Given the description of an element on the screen output the (x, y) to click on. 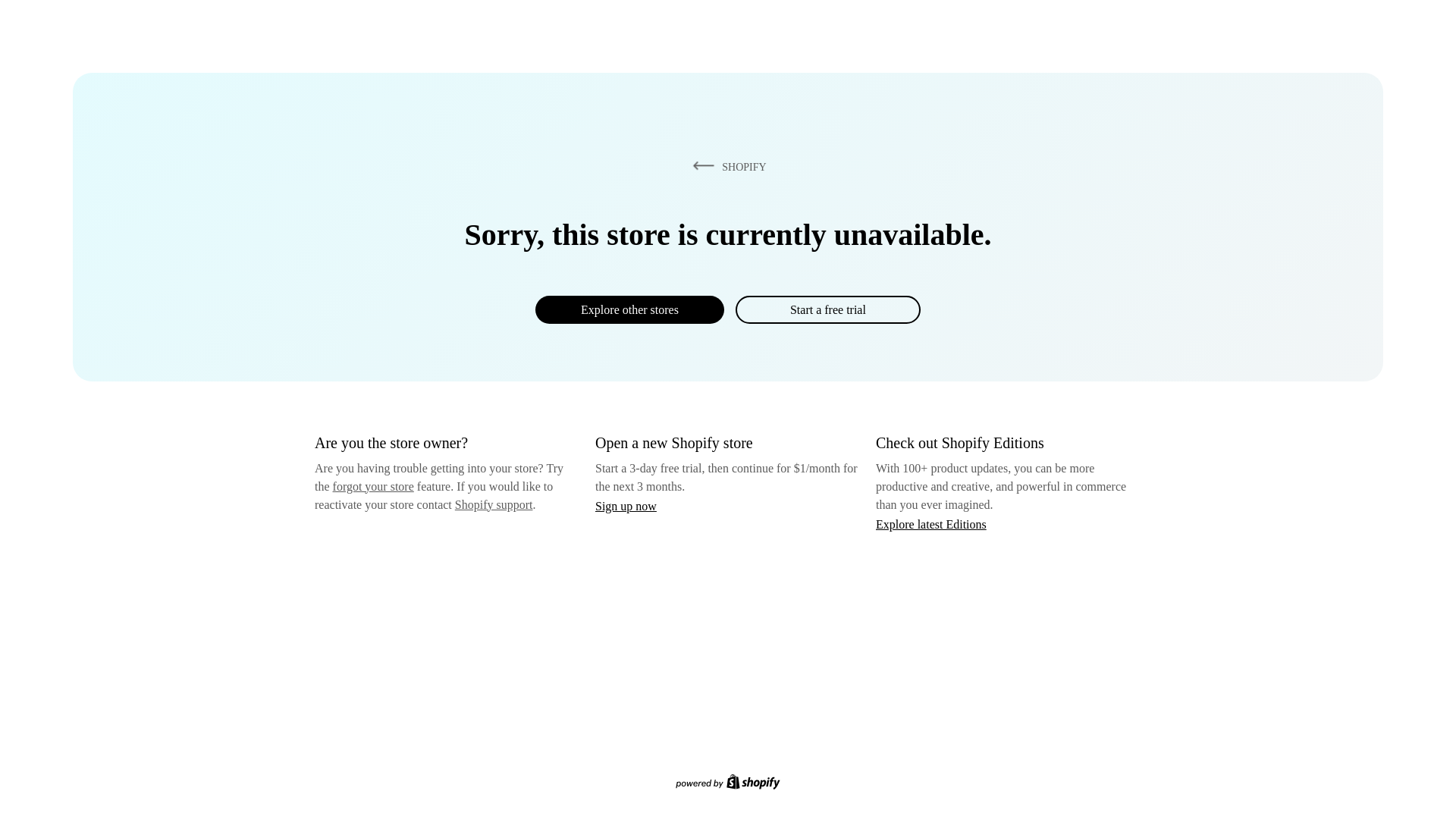
Sign up now (625, 505)
forgot your store (373, 486)
SHOPIFY (726, 166)
Explore latest Editions (931, 523)
Start a free trial (827, 309)
Shopify support (493, 504)
Explore other stores (629, 309)
